Given the description of an element on the screen output the (x, y) to click on. 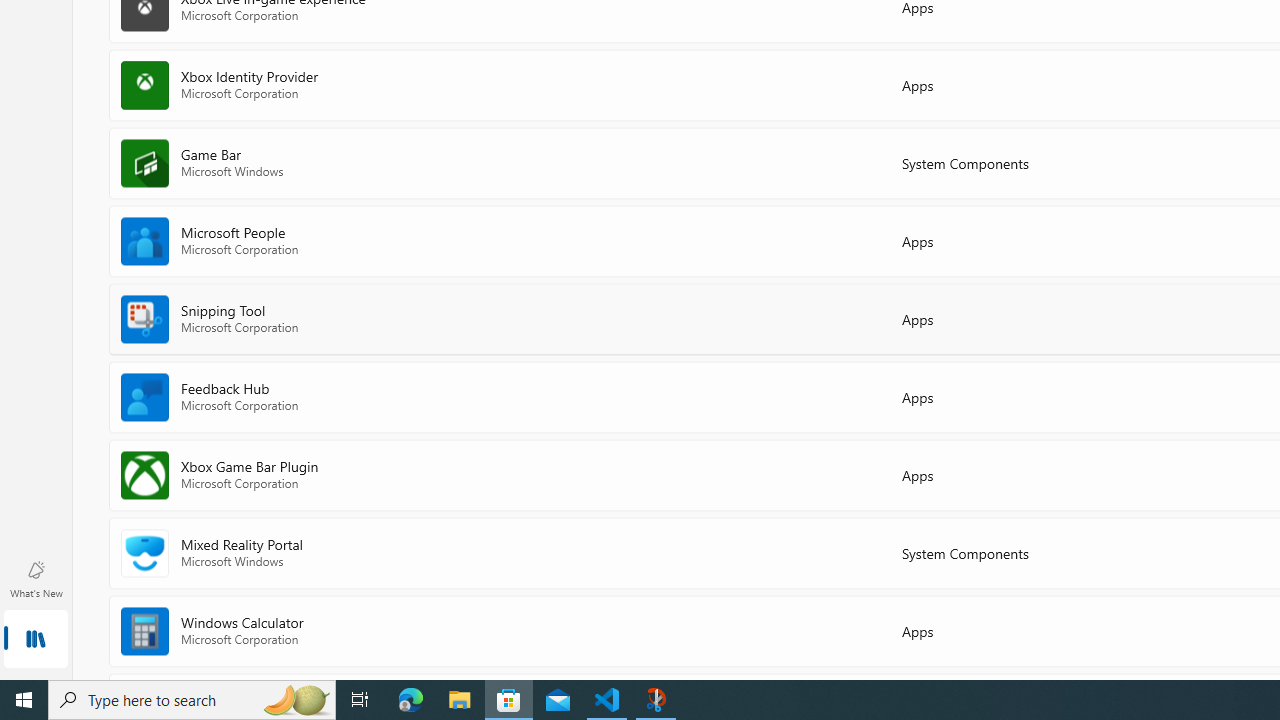
Library (35, 640)
What's New (35, 578)
